Given the description of an element on the screen output the (x, y) to click on. 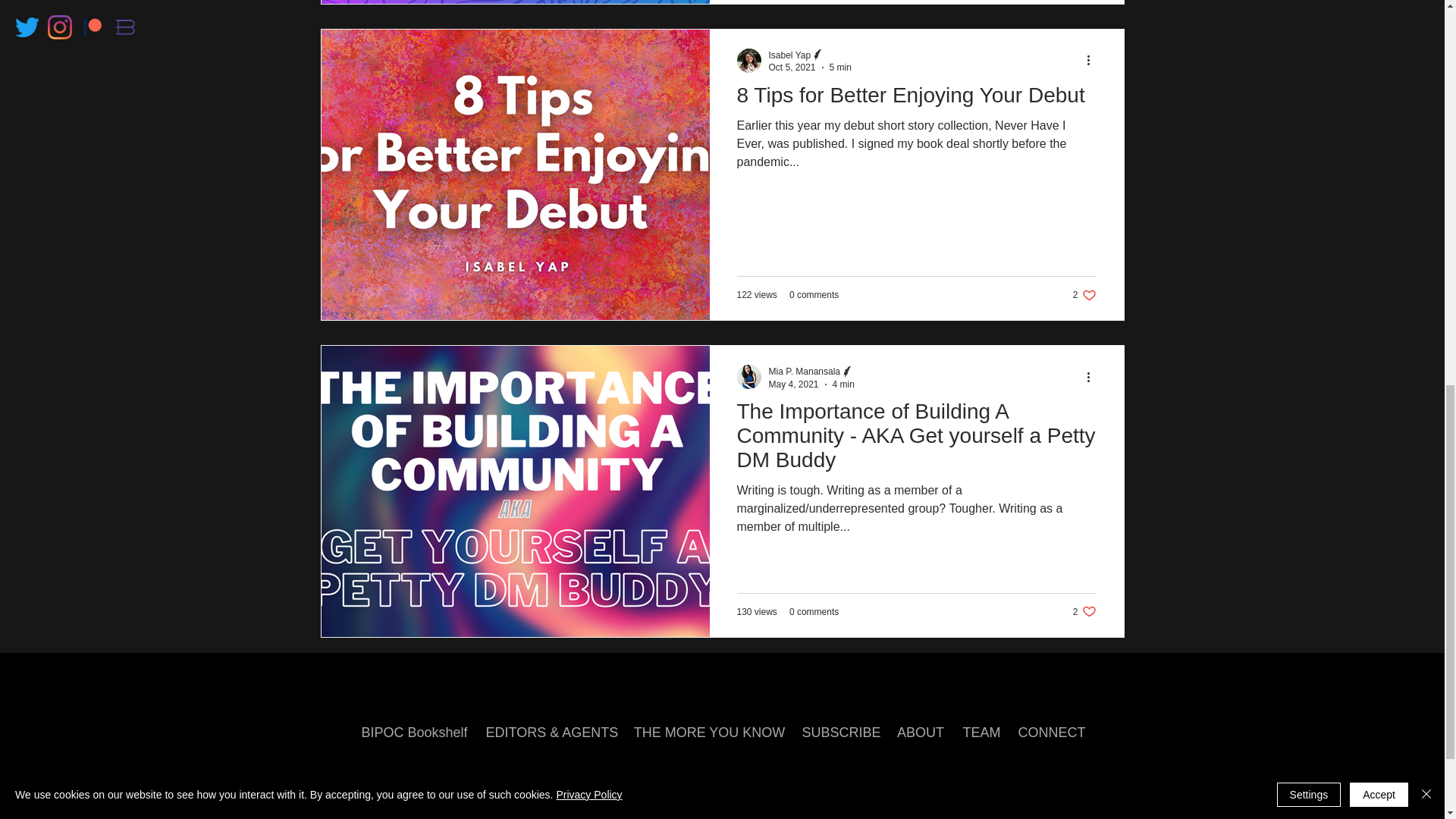
May 4, 2021 (793, 384)
4 min (843, 384)
5 min (840, 67)
Isabel Yap (809, 54)
Mia P. Manansala (804, 371)
Oct 5, 2021 (791, 67)
Isabel Yap (789, 54)
